Given the description of an element on the screen output the (x, y) to click on. 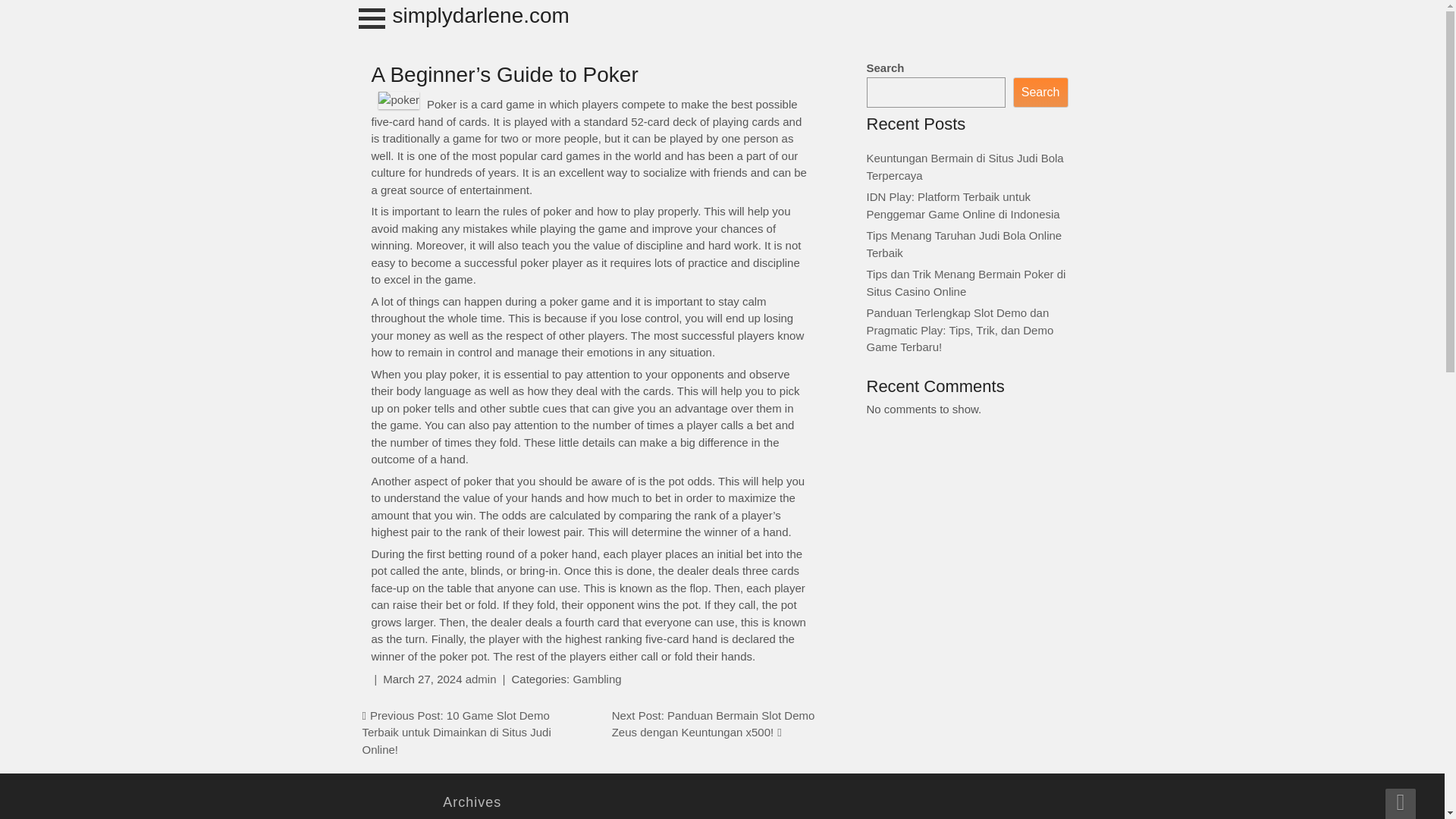
admin (480, 678)
Keuntungan Bermain di Situs Judi Bola Terpercaya (964, 166)
Posts by admin (480, 678)
Tips dan Trik Menang Bermain Poker di Situs Casino Online (965, 282)
Gambling (596, 678)
Tips Menang Taruhan Judi Bola Online Terbaik (963, 244)
Search (1040, 92)
